Given the description of an element on the screen output the (x, y) to click on. 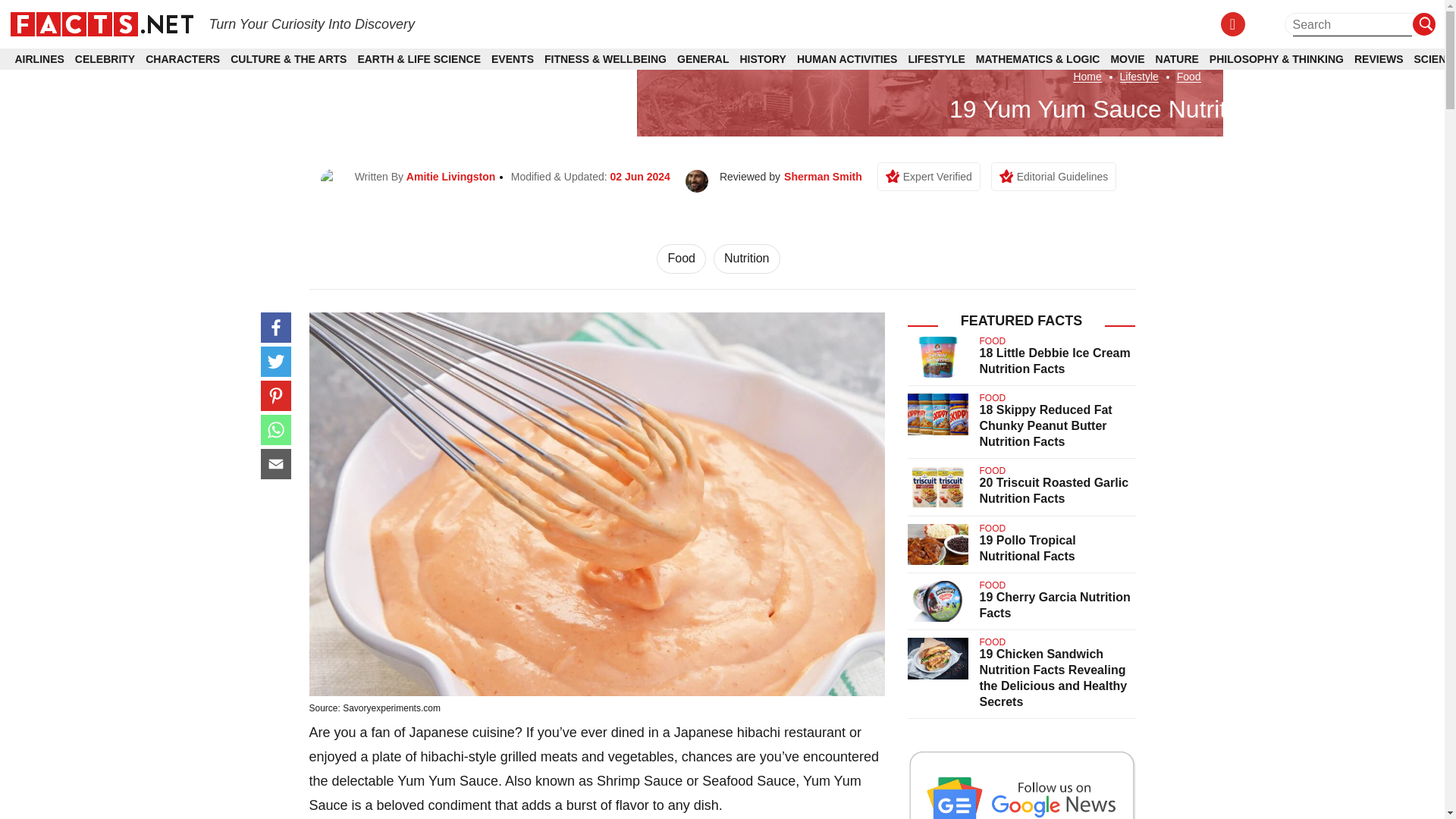
20 Triscuit Roasted Garlic Nutrition Facts  (1054, 490)
19 Pollo Tropical Nutritional Facts  (1027, 547)
Facts.net (100, 23)
AIRLINES (39, 59)
18 Little Debbie Ice Cream Nutrition Facts  (1055, 360)
CHARACTERS (182, 59)
LIFESTYLE (935, 59)
EVENTS (513, 59)
HISTORY (762, 59)
